Given the description of an element on the screen output the (x, y) to click on. 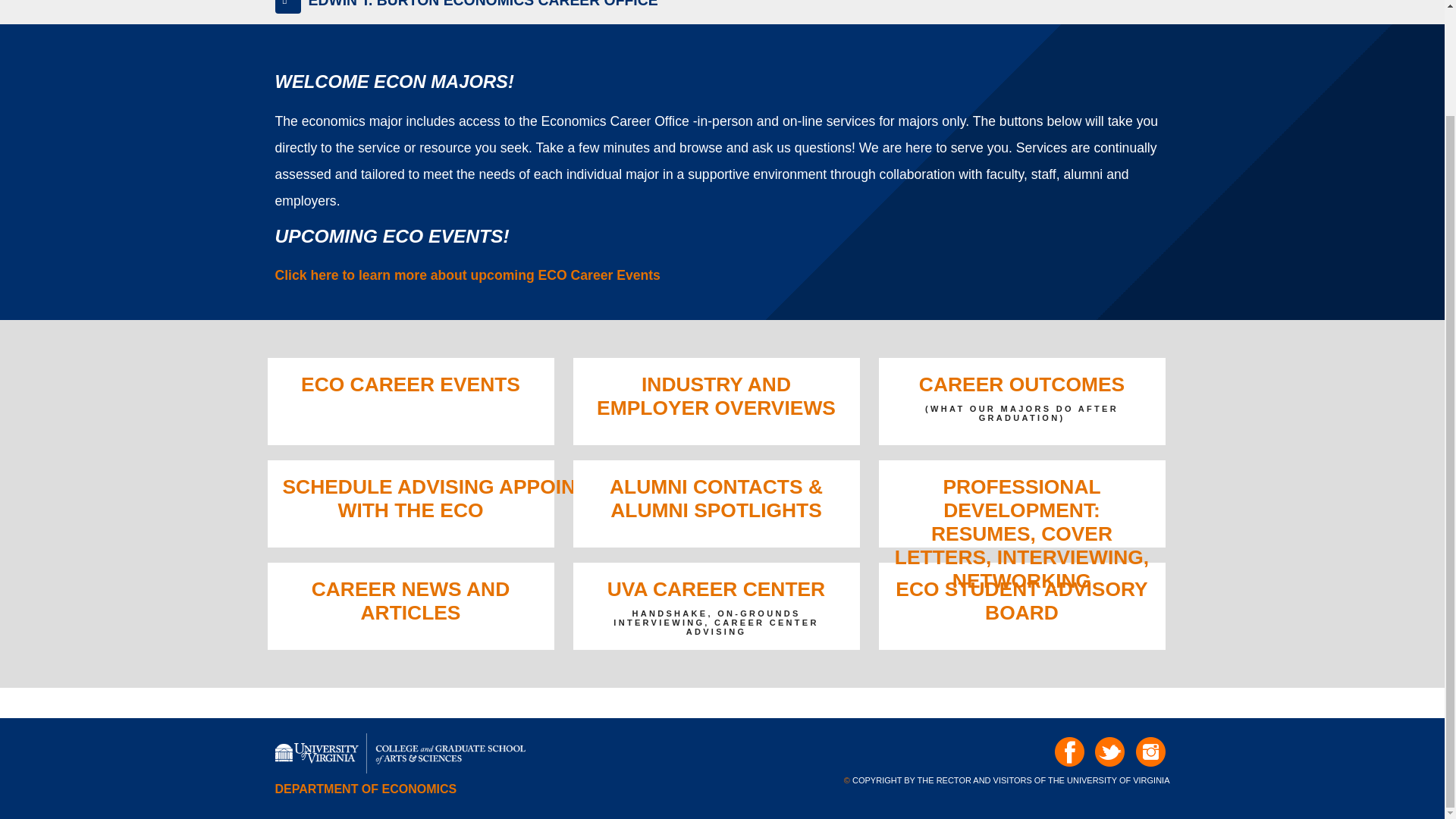
Click here to learn more about upcoming ECO Career Events (467, 274)
CAREER OUTCOMES (1021, 384)
DEPARTMENT OF ECONOMICS (366, 788)
SCHEDULE ADVISING APPOINTMENTS WITH THE ECO (470, 498)
ECO CAREER EVENTS (410, 384)
UVA CAREER CENTER (716, 589)
INDUSTRY AND EMPLOYER OVERVIEWS (715, 396)
ALUMNI CONTACTS (706, 486)
ECO STUDENT ADVISORY BOARD (1021, 601)
ALUMNI SPOTLIGHTS (716, 509)
CAREER NEWS AND ARTICLES (410, 601)
EDWIN T. BURTON ECONOMICS CAREER OFFICE (482, 4)
